Given the description of an element on the screen output the (x, y) to click on. 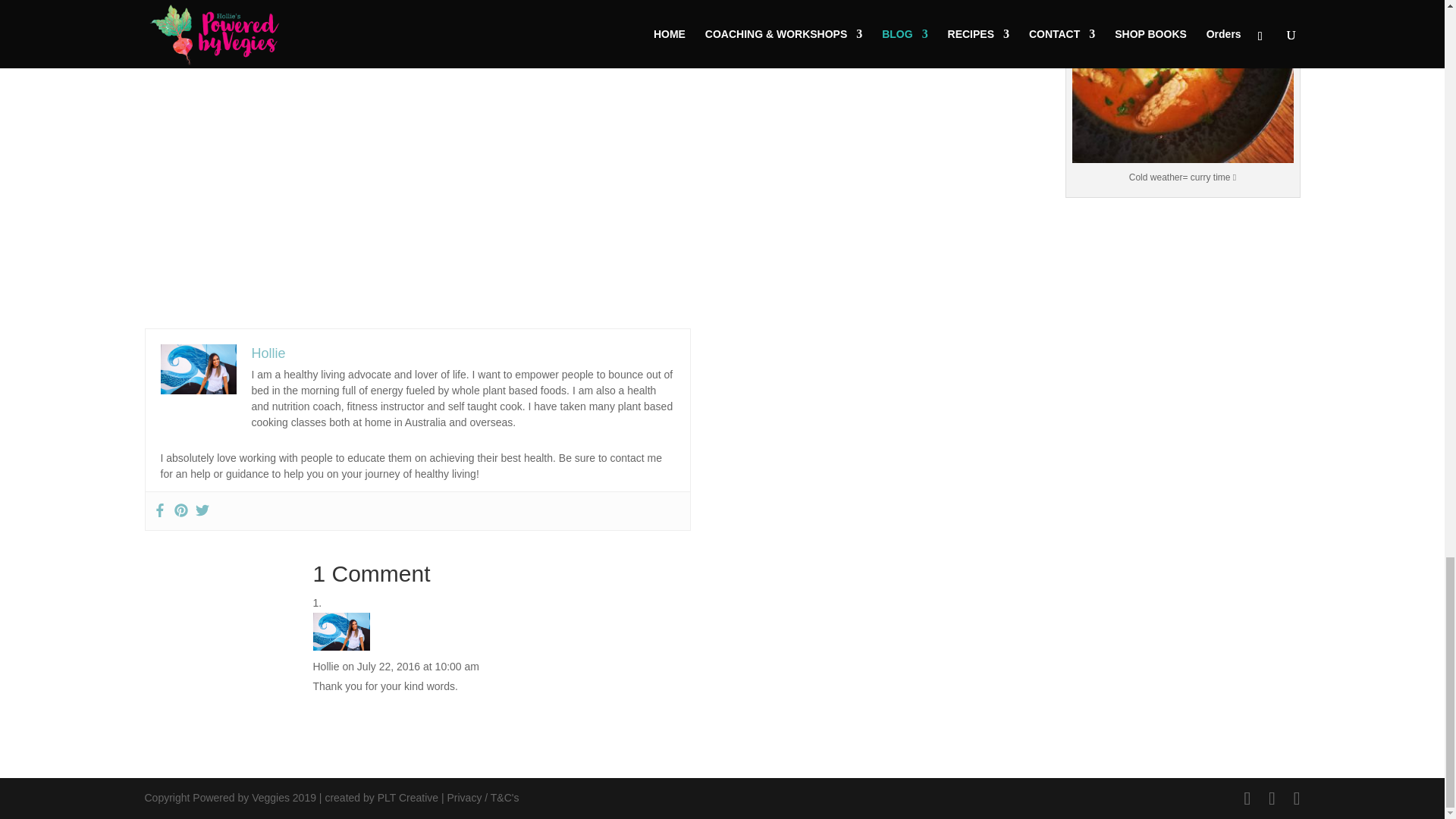
Pinterest (180, 510)
Facebook (159, 510)
Twitter (202, 510)
